Given the description of an element on the screen output the (x, y) to click on. 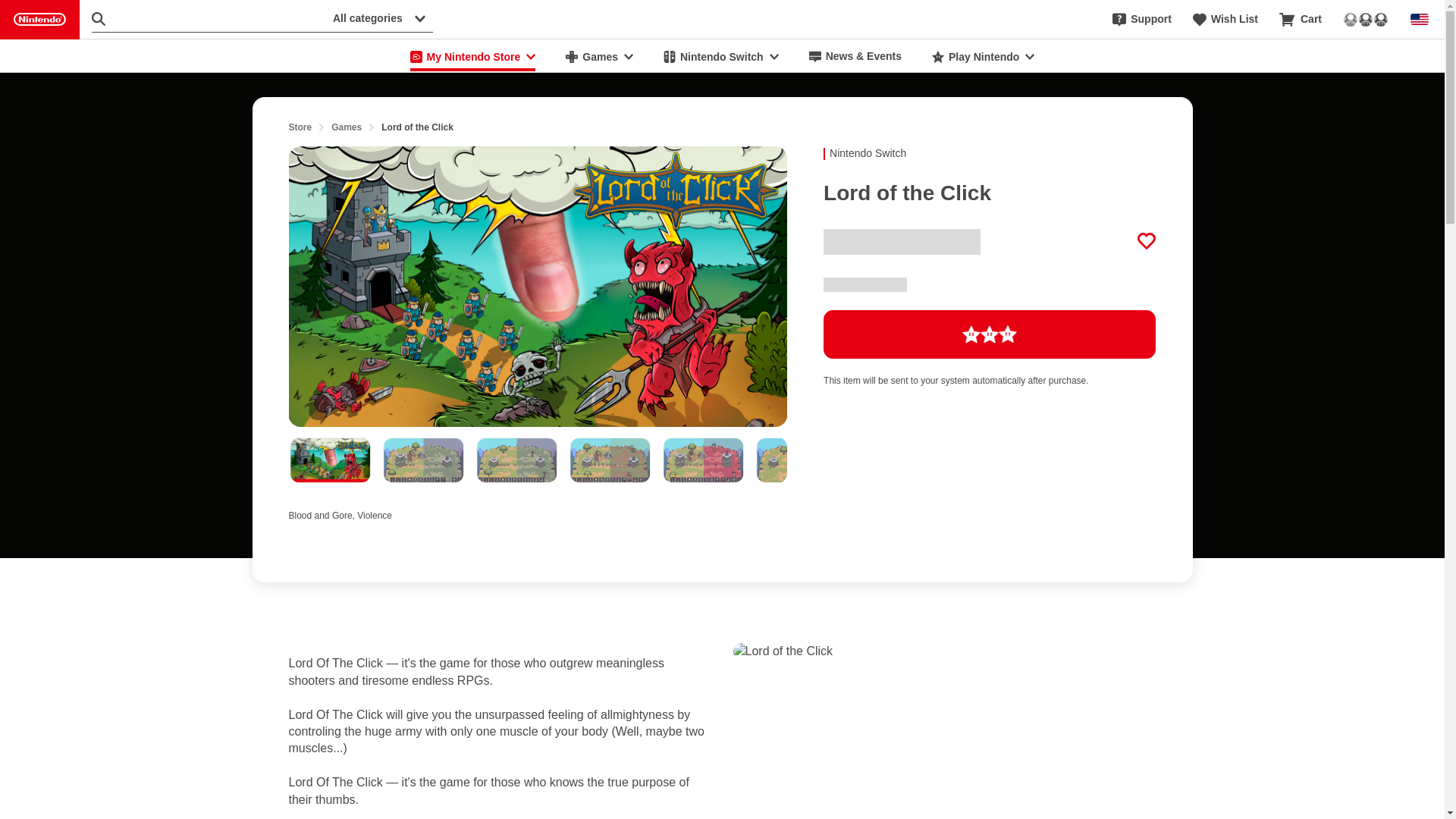
Nintendo (40, 19)
Add to Wish List (1146, 240)
Play Nintendo (983, 56)
Support (1142, 19)
Games (346, 127)
Loading (990, 334)
Store (299, 127)
Nintendo Switch (720, 56)
Wish List (1224, 19)
My Nintendo Store (472, 56)
